Given the description of an element on the screen output the (x, y) to click on. 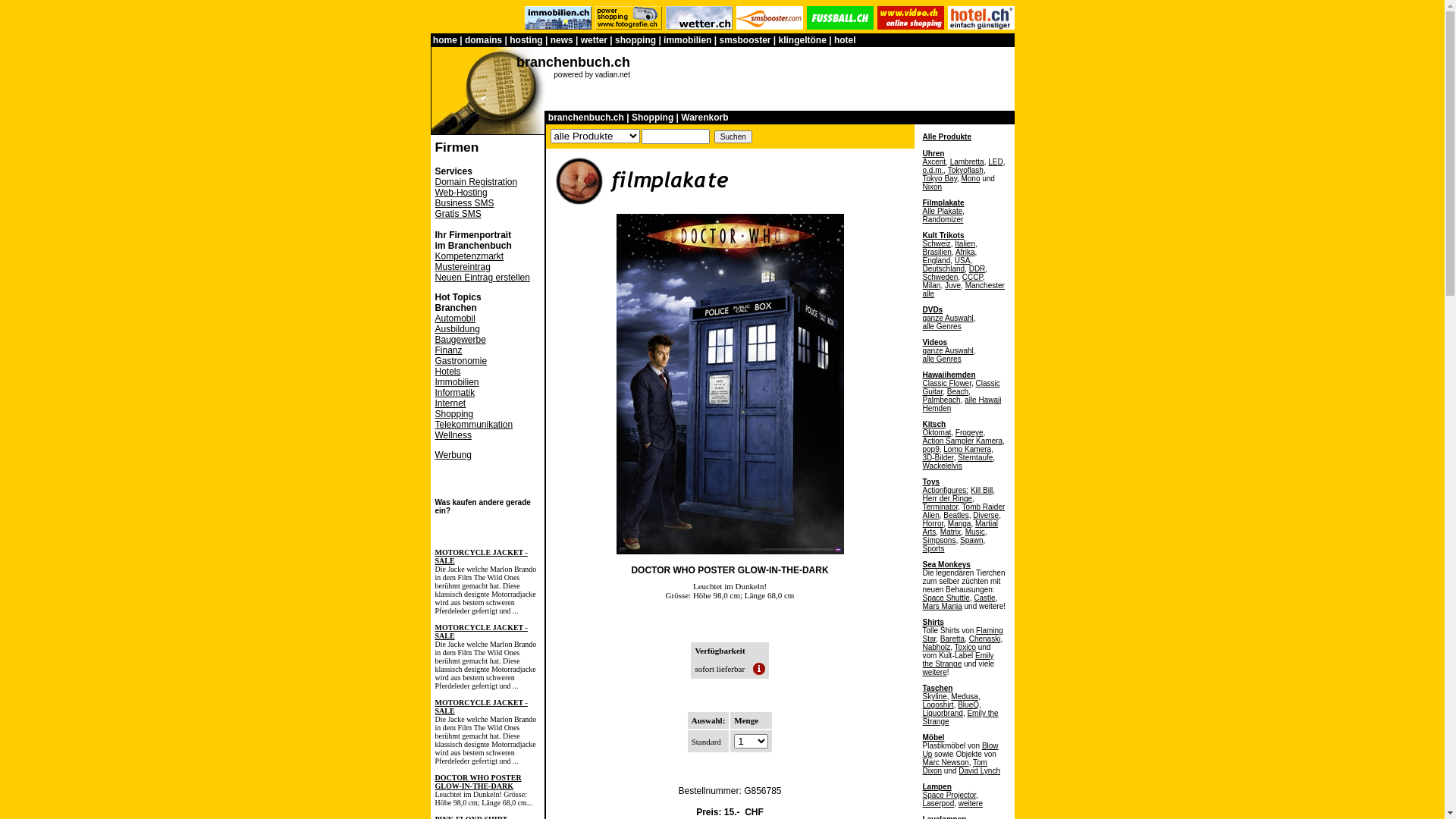
Tokyoflash Element type: text (965, 170)
BlueQ Element type: text (968, 704)
ganze Auswahl Element type: text (947, 317)
Internet Element type: text (450, 403)
Deutschland Element type: text (943, 268)
ganze Auswahl Element type: text (947, 350)
Gastronomie Element type: text (461, 360)
Shopping Element type: text (652, 117)
Lampen Element type: text (936, 786)
Frogeye Element type: text (969, 432)
alle Element type: text (928, 293)
Domain Registration Element type: text (476, 181)
Tom Dixon Element type: text (954, 766)
Skyline Element type: text (934, 696)
Wackelelvis Element type: text (941, 465)
Blow Up Element type: text (959, 749)
Sterntaufe Element type: text (974, 457)
CCCP Element type: text (972, 277)
Emily the Strange Element type: text (957, 659)
Mars Mania Element type: text (941, 606)
Schweiz Element type: text (936, 243)
alle Hawaii Hemden Element type: text (961, 403)
Sea Monkeys Element type: text (945, 564)
wetter Element type: text (593, 39)
smsbooster Element type: text (744, 39)
Laserpod Element type: text (937, 803)
Oktomat Element type: text (936, 432)
Informatik Element type: text (455, 392)
Was kaufen andere gerade ein? Element type: text (482, 506)
Kompetenzmarkt Element type: text (469, 256)
Beach Element type: text (957, 391)
weitere Element type: text (970, 803)
Alle Plakate Element type: text (942, 211)
Emily the Strange Element type: text (959, 717)
shopping Element type: text (635, 39)
MOTORCYCLE JACKET - SALE Element type: text (481, 706)
Milan Element type: text (931, 285)
Manchester Element type: text (984, 285)
Mono Element type: text (969, 178)
Axcent Element type: text (933, 161)
Flaming Star Element type: text (962, 634)
Videos Element type: text (934, 342)
Schweden Element type: text (939, 277)
Liquorbrand Element type: text (942, 713)
powered by vadian.net Element type: text (591, 74)
Castle Element type: text (983, 597)
Lomo Kamera Element type: text (967, 449)
Shirts Element type: text (932, 622)
hosting Element type: text (525, 39)
Space Shuttle Element type: text (945, 597)
Filmplakate Element type: text (942, 202)
Simpsons Element type: text (938, 540)
Nabholz Element type: text (936, 647)
Medusa Element type: text (964, 696)
Actionfigures: Element type: text (945, 490)
Hotels Element type: text (448, 371)
alle Genres Element type: text (941, 326)
DOCTOR WHO POSTER GLOW-IN-THE-DARK Element type: text (478, 781)
Lambretta Element type: text (967, 161)
Classic Guitar Element type: text (960, 387)
Immobilien Element type: text (457, 381)
Suchen Element type: text (733, 136)
home Element type: text (445, 39)
Telekommunikation Element type: text (474, 424)
DVDs Element type: text (932, 309)
news Element type: text (561, 39)
Matrix Element type: text (950, 531)
branchenbuch.ch Element type: text (586, 117)
Warenkorb Element type: text (704, 117)
Neuen Eintrag erstellen Element type: text (482, 277)
Manga Element type: text (959, 523)
Shopping Element type: text (454, 413)
Juve Element type: text (952, 285)
Business SMS Element type: text (464, 202)
Marc Newson Element type: text (945, 762)
Herr der Ringe Element type: text (947, 498)
Brasilien Element type: text (936, 251)
Music Element type: text (975, 531)
LED Element type: text (995, 161)
Alien Element type: text (930, 515)
Kill Bill Element type: text (981, 490)
Chenaski Element type: text (985, 638)
Kult Trikots Element type: text (942, 235)
hotel Element type: text (845, 39)
Baretta Element type: text (952, 638)
alle Genres Element type: text (941, 358)
Space Projector Element type: text (948, 794)
branchenbuch.ch Element type: text (573, 61)
USA Element type: text (962, 260)
Diverse Element type: text (985, 515)
England Element type: text (936, 260)
Martial Arts Element type: text (959, 527)
Spawn Element type: text (971, 540)
Action Sampler Kamera Element type: text (962, 440)
Sports Element type: text (933, 548)
Mustereintrag Element type: text (462, 266)
Italien Element type: text (964, 243)
Tomb Raider Element type: text (983, 506)
Ausbildung Element type: text (457, 328)
Gratis SMS Element type: text (458, 213)
MOTORCYCLE JACKET - SALE Element type: text (481, 556)
Hawaiihemden Element type: text (948, 374)
Tokyo Bay Element type: text (939, 178)
pop9 Element type: text (930, 449)
DDR Element type: text (977, 268)
David Lynch Element type: text (979, 770)
Web-Hosting Element type: text (461, 192)
Beatles Element type: text (955, 515)
Werbung Element type: text (453, 454)
MOTORCYCLE JACKET - SALE Element type: text (481, 631)
Toxico Element type: text (964, 647)
Uhren Element type: text (933, 153)
Toys Element type: text (930, 481)
Afrika Element type: text (965, 251)
3D-Bilder Element type: text (937, 457)
Alle Produkte Element type: text (946, 136)
Palmbeach Element type: text (941, 399)
Wellness Element type: text (453, 434)
Finanz Element type: text (448, 350)
Automobil Element type: text (455, 318)
Horror Element type: text (932, 523)
Taschen Element type: text (937, 688)
o.d.m. Element type: text (932, 170)
Baugewerbe Element type: text (460, 339)
Randomizer Element type: text (942, 219)
immobilien Element type: text (687, 39)
Kitsch Element type: text (933, 424)
Terminator Element type: text (939, 506)
Logoshirt Element type: text (937, 704)
weitere Element type: text (934, 672)
domains Element type: text (483, 39)
Firmen Element type: text (457, 146)
Nixon Element type: text (931, 186)
Classic Flower Element type: text (946, 383)
